Given the description of an element on the screen output the (x, y) to click on. 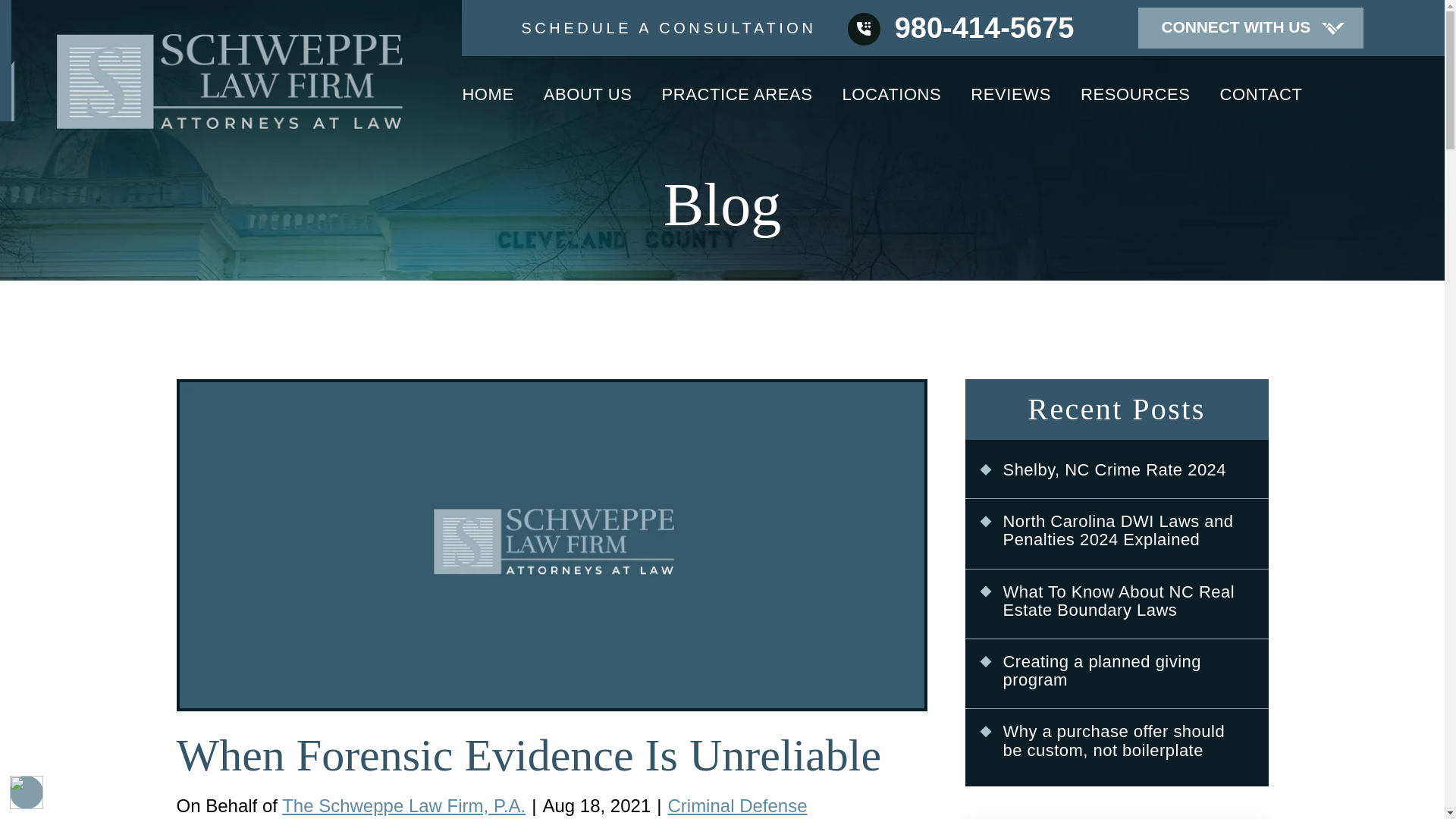
HOME (487, 101)
ABOUT US (587, 101)
PRACTICE AREAS (737, 101)
SCHEDULE A CONSULTATION (668, 27)
RESOURCES (1135, 101)
REVIEWS (1011, 101)
980-414-5675 (959, 27)
CONNECT WITH US (1250, 27)
LOCATIONS (892, 101)
CONTACT (1261, 99)
